Given the description of an element on the screen output the (x, y) to click on. 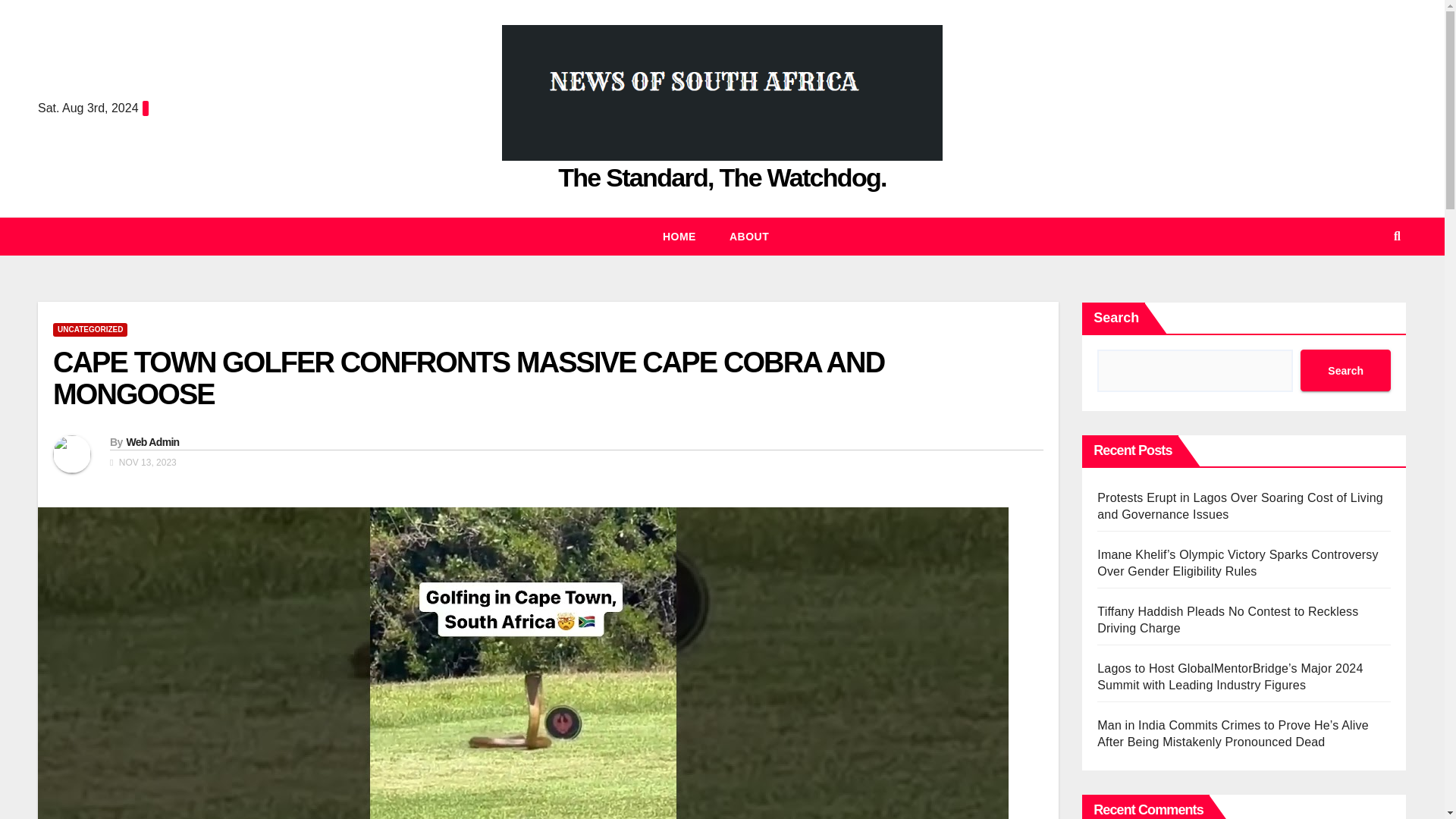
HOME (679, 236)
Home (679, 236)
ABOUT (749, 236)
CAPE TOWN GOLFER CONFRONTS MASSIVE CAPE COBRA AND MONGOOSE (467, 378)
Web Admin (152, 441)
Search (1345, 370)
The Standard, The Watchdog. (721, 176)
UNCATEGORIZED (90, 329)
